Given the description of an element on the screen output the (x, y) to click on. 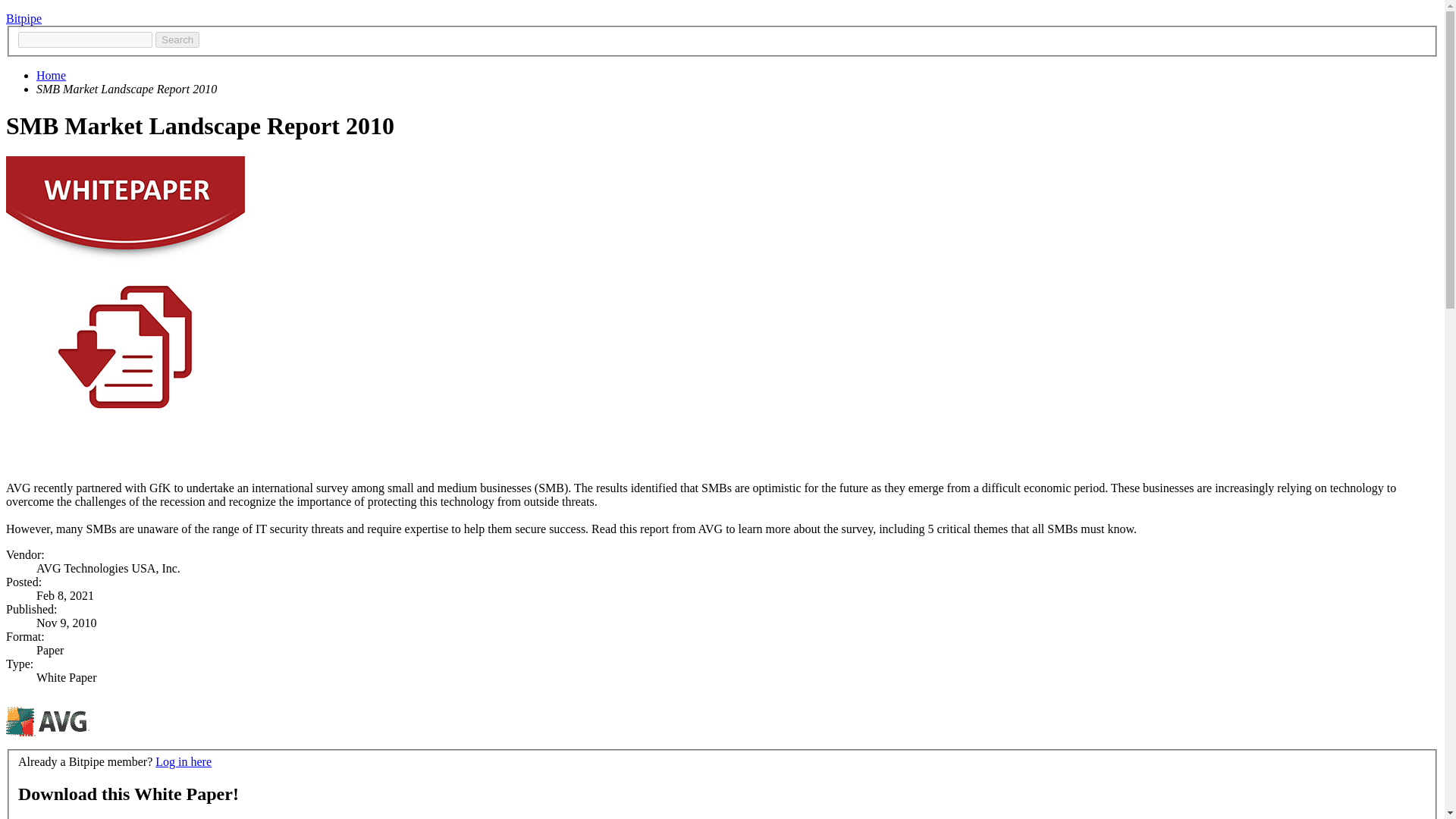
Home (50, 74)
Bitpipe (23, 18)
Log in here (183, 761)
Search (177, 39)
Search (177, 39)
